Given the description of an element on the screen output the (x, y) to click on. 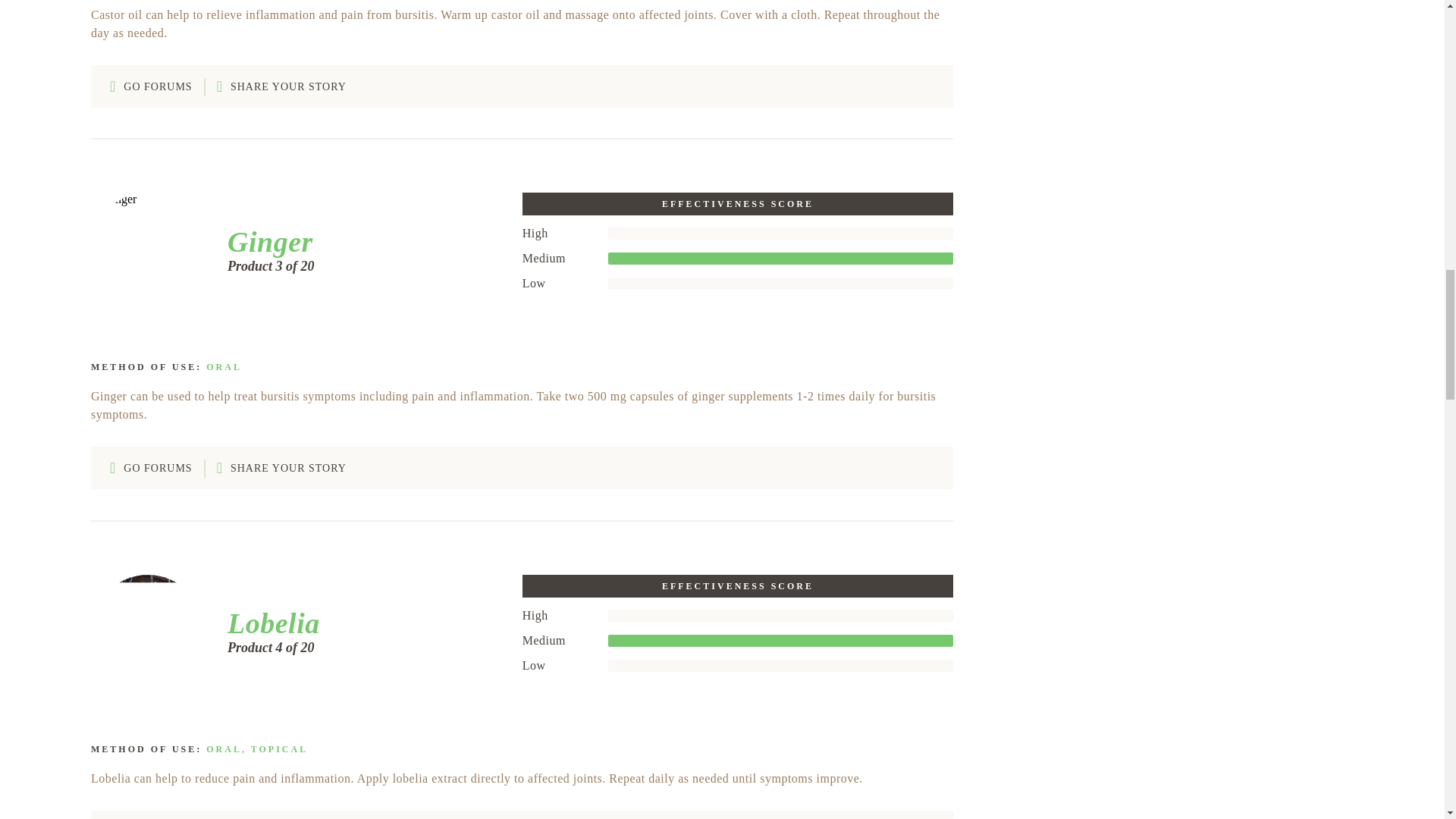
SHARE YOUR STORY (281, 86)
GO FORUMS (151, 467)
GO FORUMS (151, 86)
SHARE YOUR STORY (281, 467)
Ginger (264, 241)
Lobelia (268, 622)
